Given the description of an element on the screen output the (x, y) to click on. 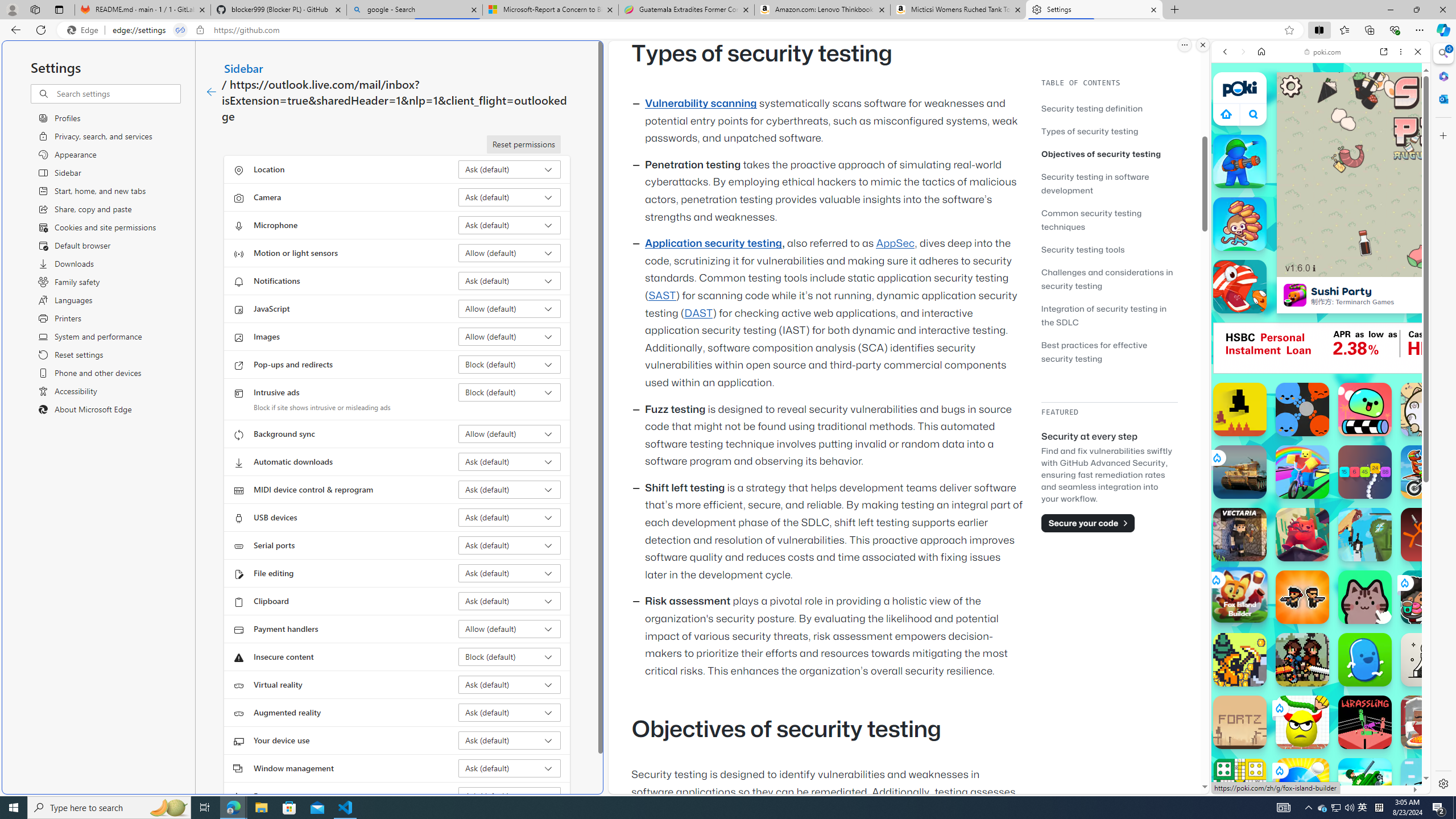
War Master War Master (1239, 161)
Monkey Mart (1239, 223)
Shady Bears Shady Bears (1302, 534)
Games for Girls (1320, 406)
Security testing definition (1091, 108)
Vortelli's Pizza Vortelli's Pizza (1427, 722)
Fish Eat Fish (1239, 286)
Classic Chess (1427, 659)
Clipboard Ask (default) (509, 601)
Blumgi Slime Blumgi Slime (1364, 409)
Zombie Rush Zombie Rush (1302, 597)
Types of security testing (1109, 130)
